Given the description of an element on the screen output the (x, y) to click on. 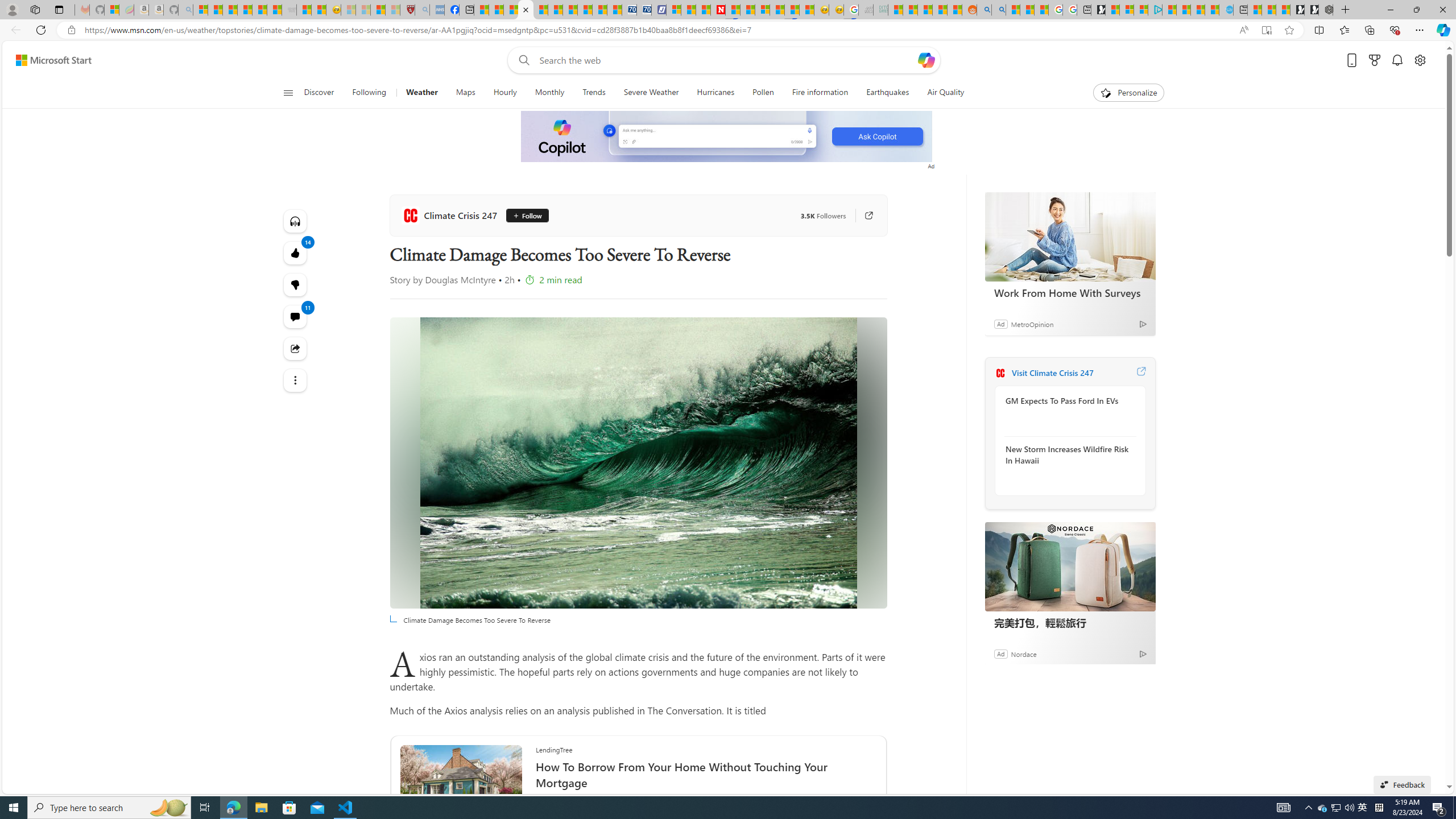
MetroOpinion (1031, 323)
Severe Weather (650, 92)
Maps (465, 92)
12 Popular Science Lies that Must be Corrected - Sleeping (392, 9)
New Storm Increases Wildfire Risk In Hawaii (1066, 454)
